Given the description of an element on the screen output the (x, y) to click on. 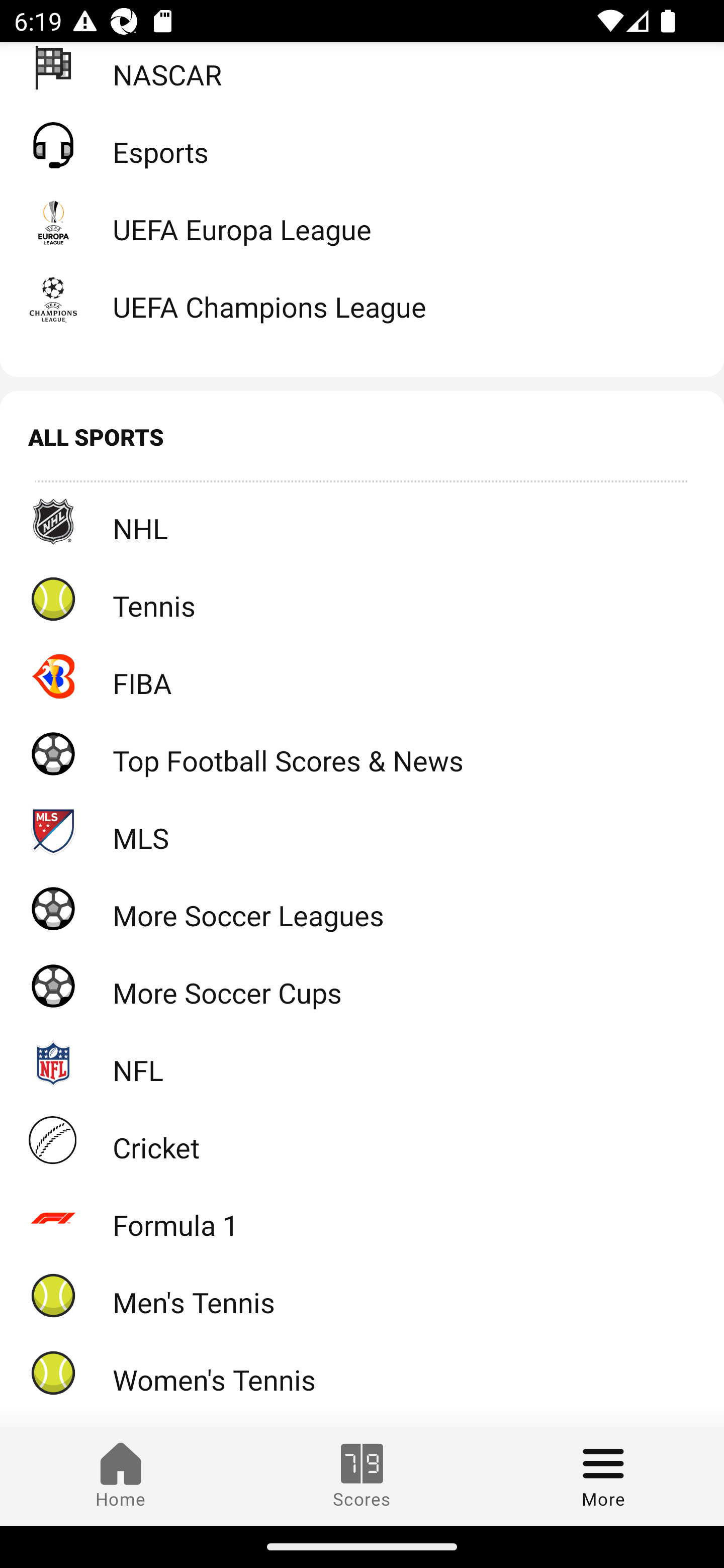
NASCAR (362, 74)
Esports (362, 144)
UEFA Europa League (362, 221)
UEFA Champions League (362, 299)
NHL (362, 520)
Tennis (362, 597)
FIBA  (362, 675)
Top Football Scores & News (362, 753)
MLS (362, 829)
More Soccer Leagues (362, 907)
More Soccer Cups (362, 985)
NFL (362, 1062)
Cricket G Cricket (362, 1140)
Formula 1 (362, 1217)
Men's Tennis (362, 1294)
Women's Tennis (362, 1372)
Home (120, 1475)
Scores (361, 1475)
